Given the description of an element on the screen output the (x, y) to click on. 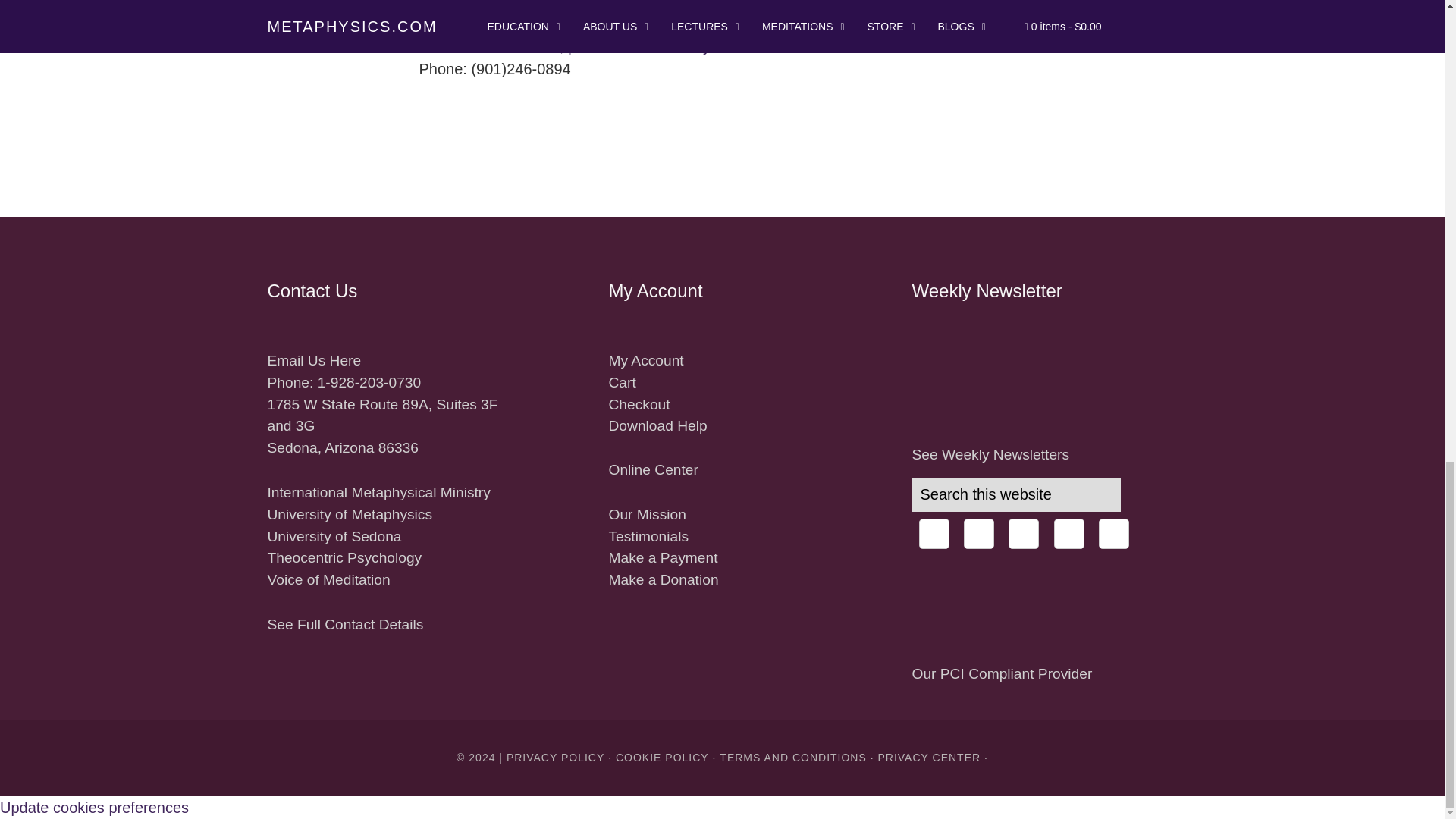
imm-twitter (1069, 533)
DMCA.com Protection Status (948, 651)
imm-youtube (1114, 533)
imm-linkedin (1024, 533)
imm-facebook (933, 533)
imm-instagram (978, 533)
